Given the description of an element on the screen output the (x, y) to click on. 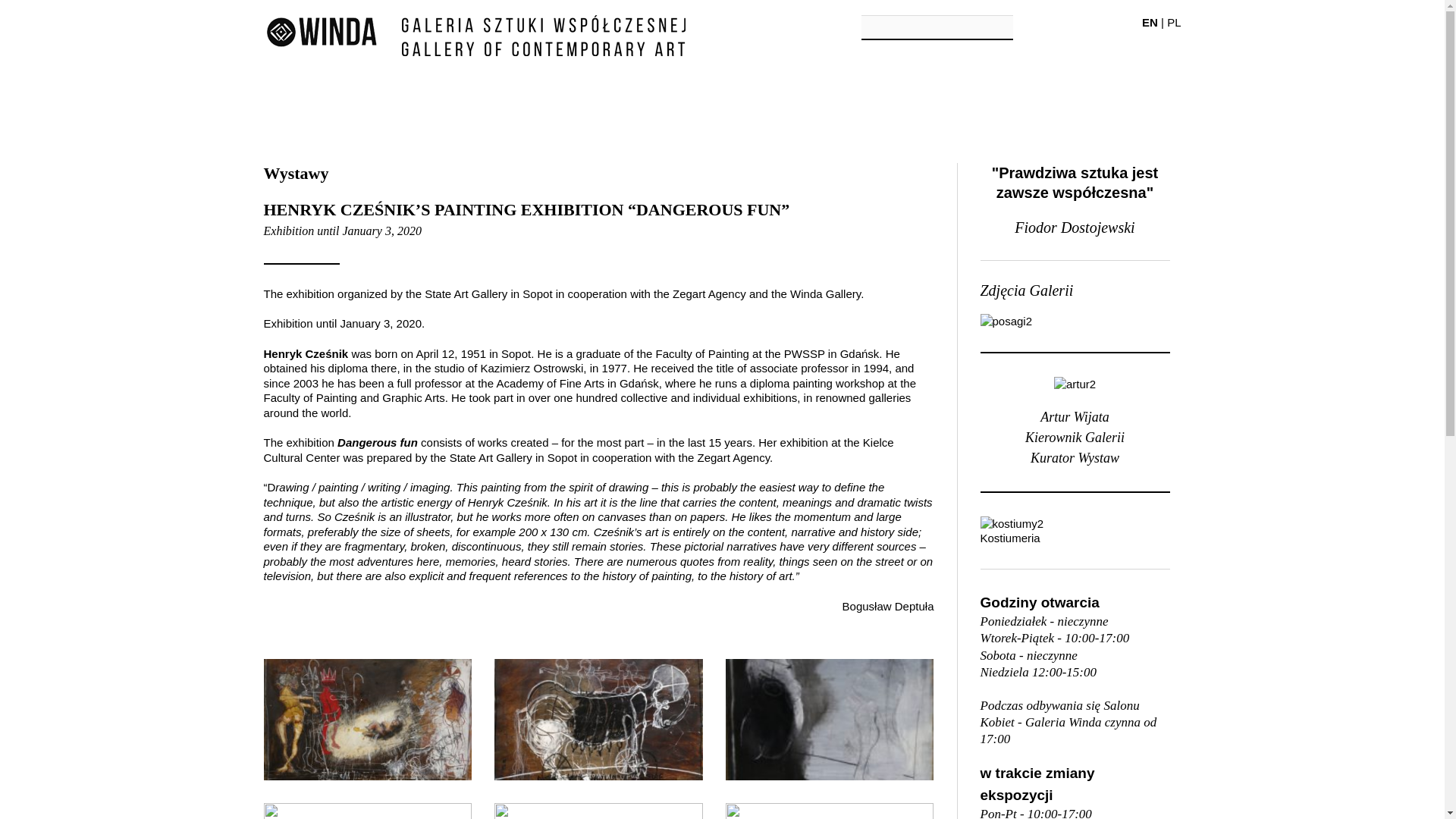
Archives (798, 100)
Search (999, 27)
Search (999, 27)
About (339, 100)
Artists (645, 100)
Education (951, 100)
PL (1173, 21)
Collection (492, 100)
Contact (1103, 100)
